Given the description of an element on the screen output the (x, y) to click on. 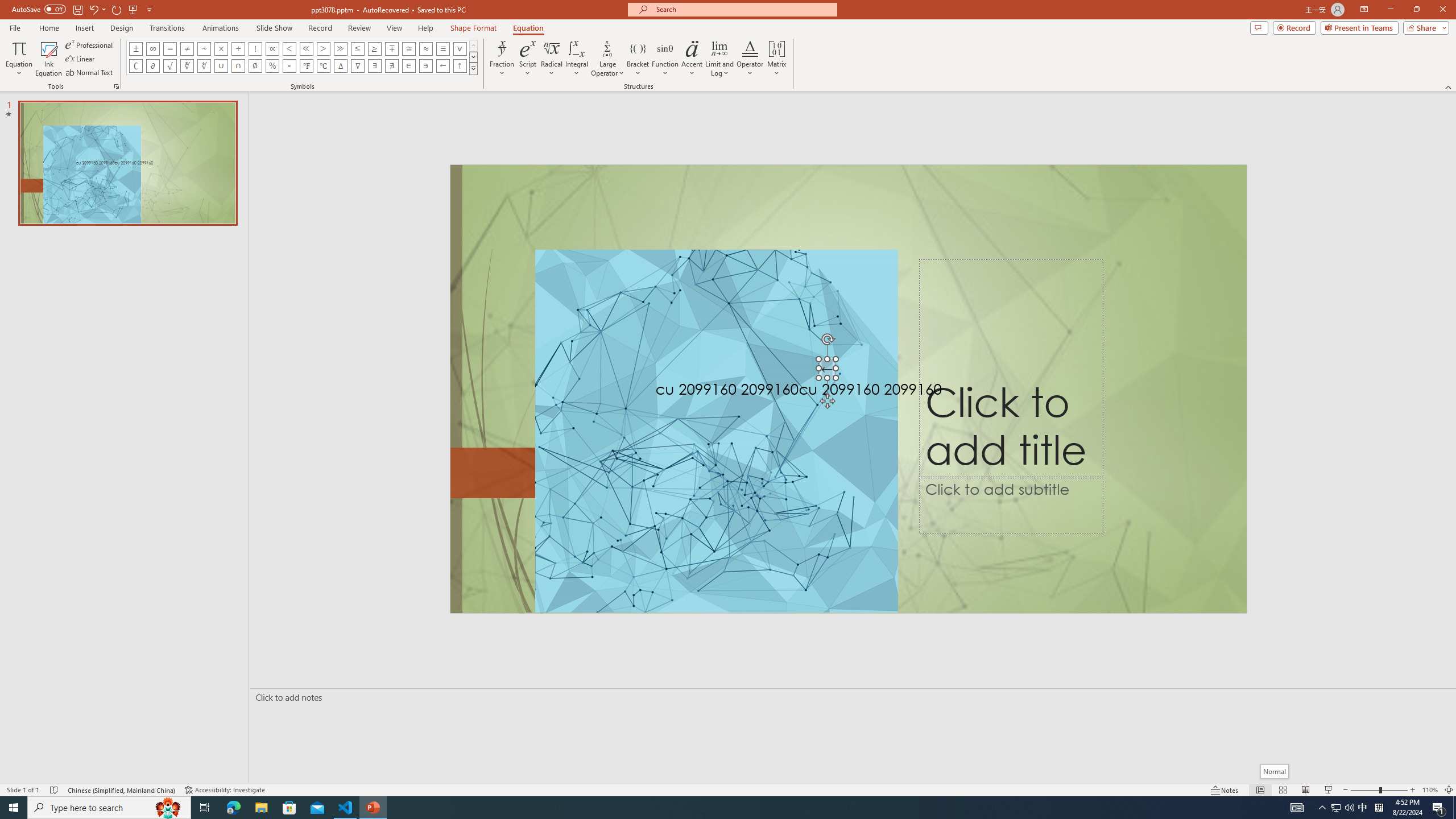
Equation Symbol Left Arrow (442, 65)
Operator (749, 58)
Ink Equation (48, 58)
Equation Symbol Less Than or Equal To (357, 48)
Equation Symbol Intersection (238, 65)
Equation Symbol Union (221, 65)
Equation Symbol There Does Not Exist (391, 65)
Equation Symbol Partial Differential (152, 65)
Equation Symbol Cube Root (187, 65)
Equation Symbol There Exists (374, 65)
